Given the description of an element on the screen output the (x, y) to click on. 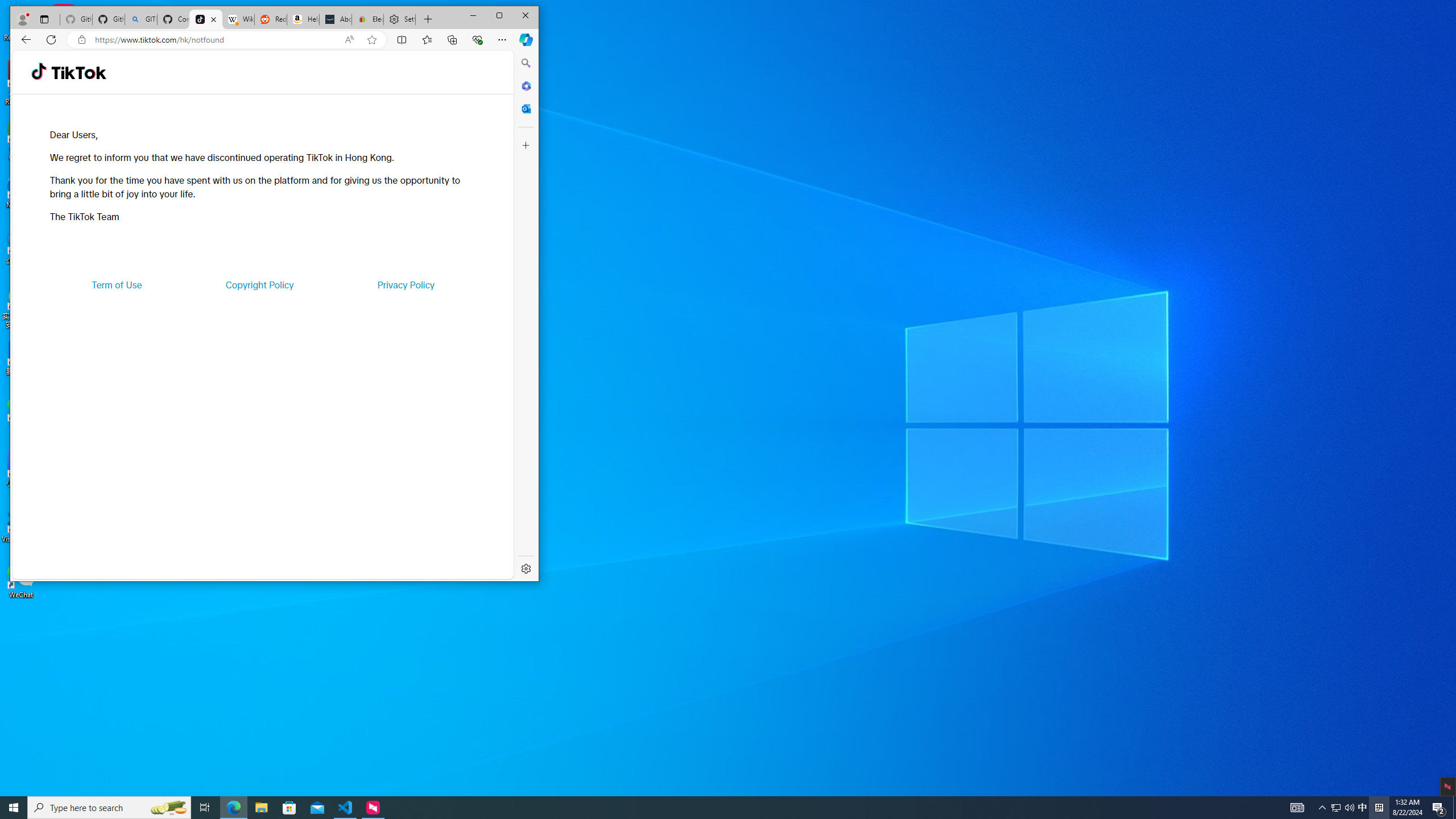
About Amazon (335, 19)
Visual Studio Code - 1 running window (345, 807)
Term of Use (116, 284)
Microsoft Edge - 1 running window (233, 807)
TikTok (78, 72)
Q2790: 100% (1362, 807)
Type here to search (1349, 807)
